Given the description of an element on the screen output the (x, y) to click on. 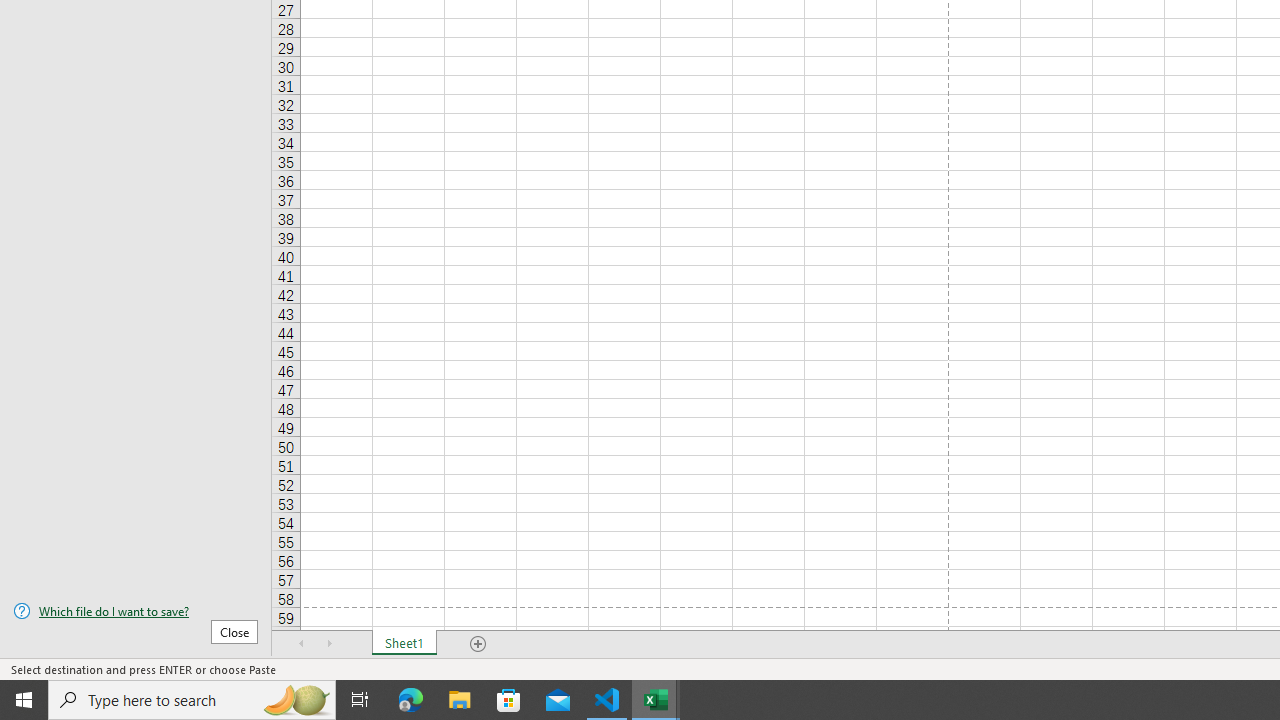
Which file do I want to save? (136, 611)
